Given the description of an element on the screen output the (x, y) to click on. 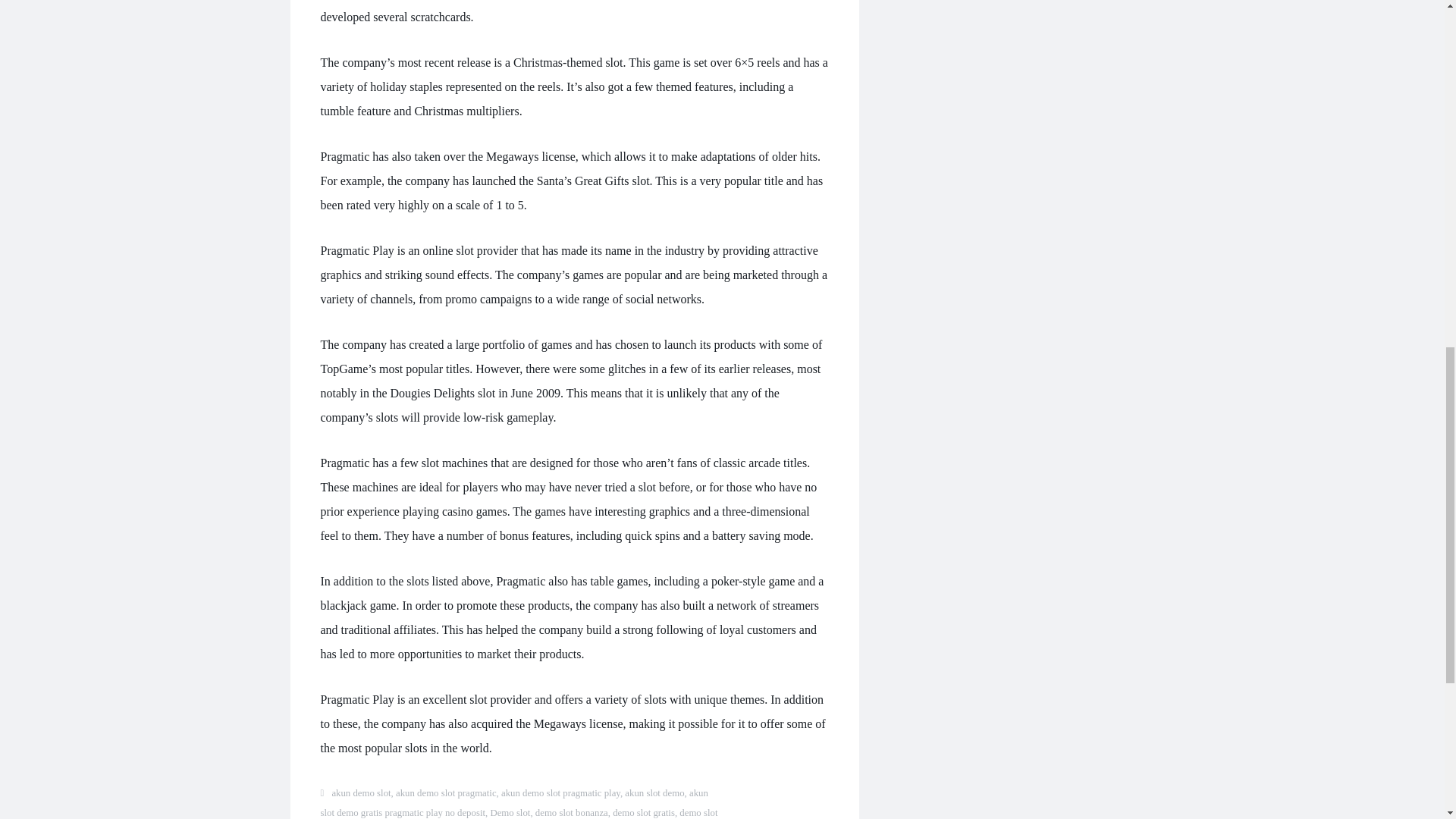
akun demo slot (360, 792)
demo slot jackpot (518, 813)
akun demo slot pragmatic (446, 792)
Demo slot (509, 812)
akun slot demo (654, 792)
demo slot bonanza (571, 812)
demo slot gratis (643, 812)
akun demo slot pragmatic play (560, 792)
akun slot demo gratis pragmatic play no deposit (513, 802)
